Given the description of an element on the screen output the (x, y) to click on. 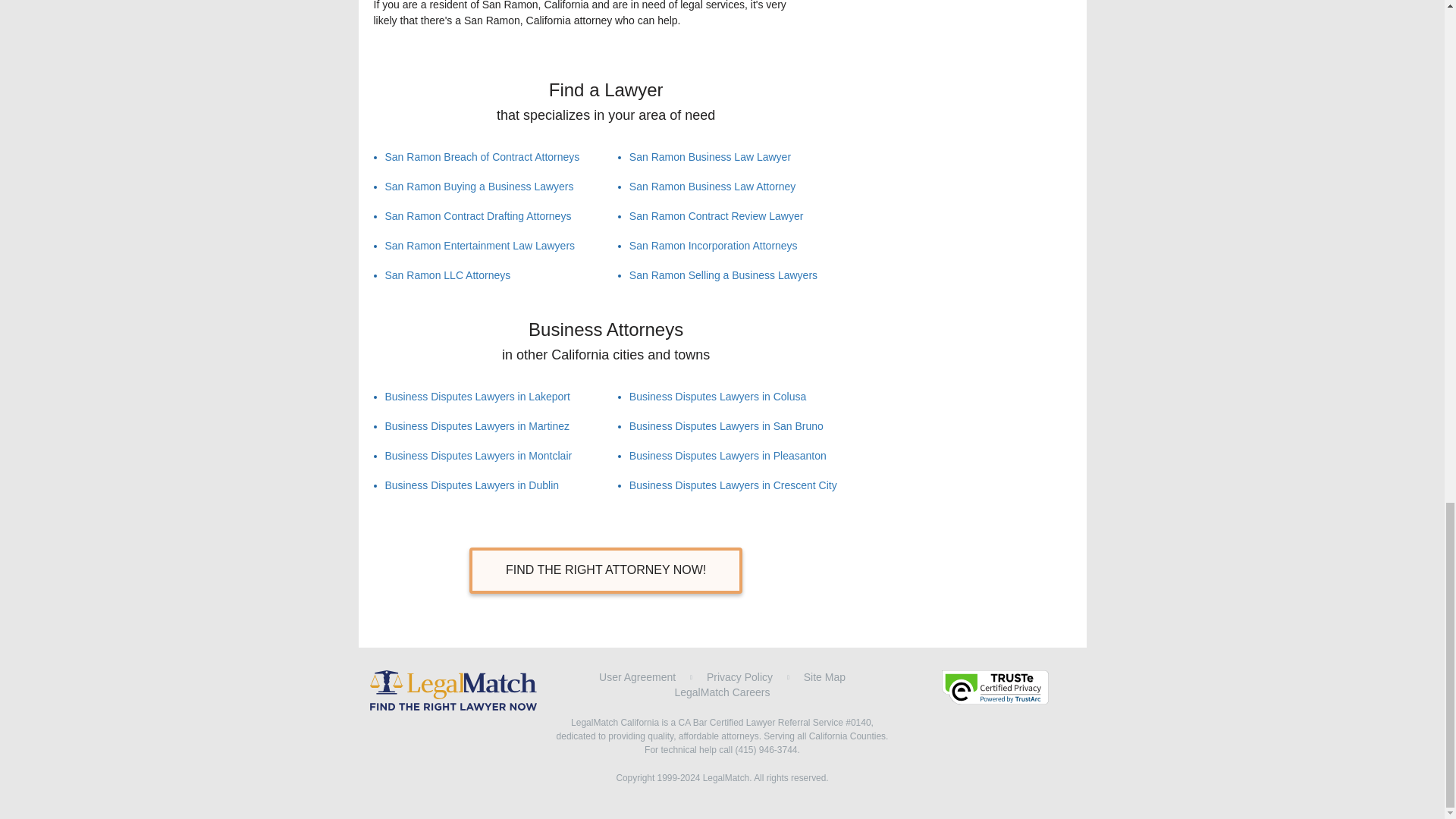
LegalMatch Careers (722, 692)
